Given the description of an element on the screen output the (x, y) to click on. 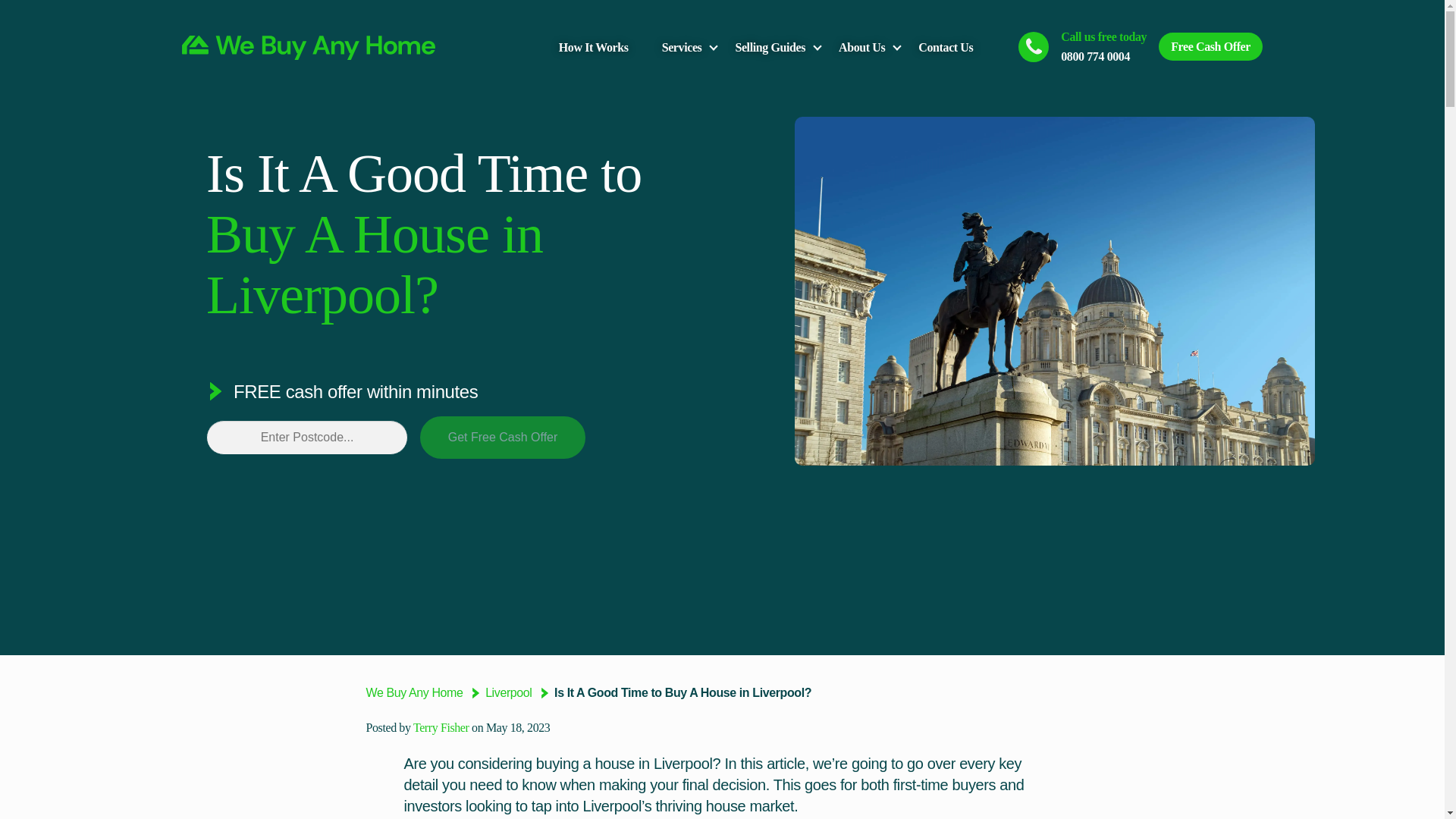
Get Free Cash Offer (502, 437)
We Buy Any Home (414, 692)
Services (681, 47)
0800 774 0004 (1095, 56)
How It Works (593, 47)
Selling Guides (770, 47)
Liverpool (509, 692)
Terry Fisher (440, 727)
Contact Us (945, 47)
About Us (861, 47)
Free Cash Offer (1210, 46)
